Given the description of an element on the screen output the (x, y) to click on. 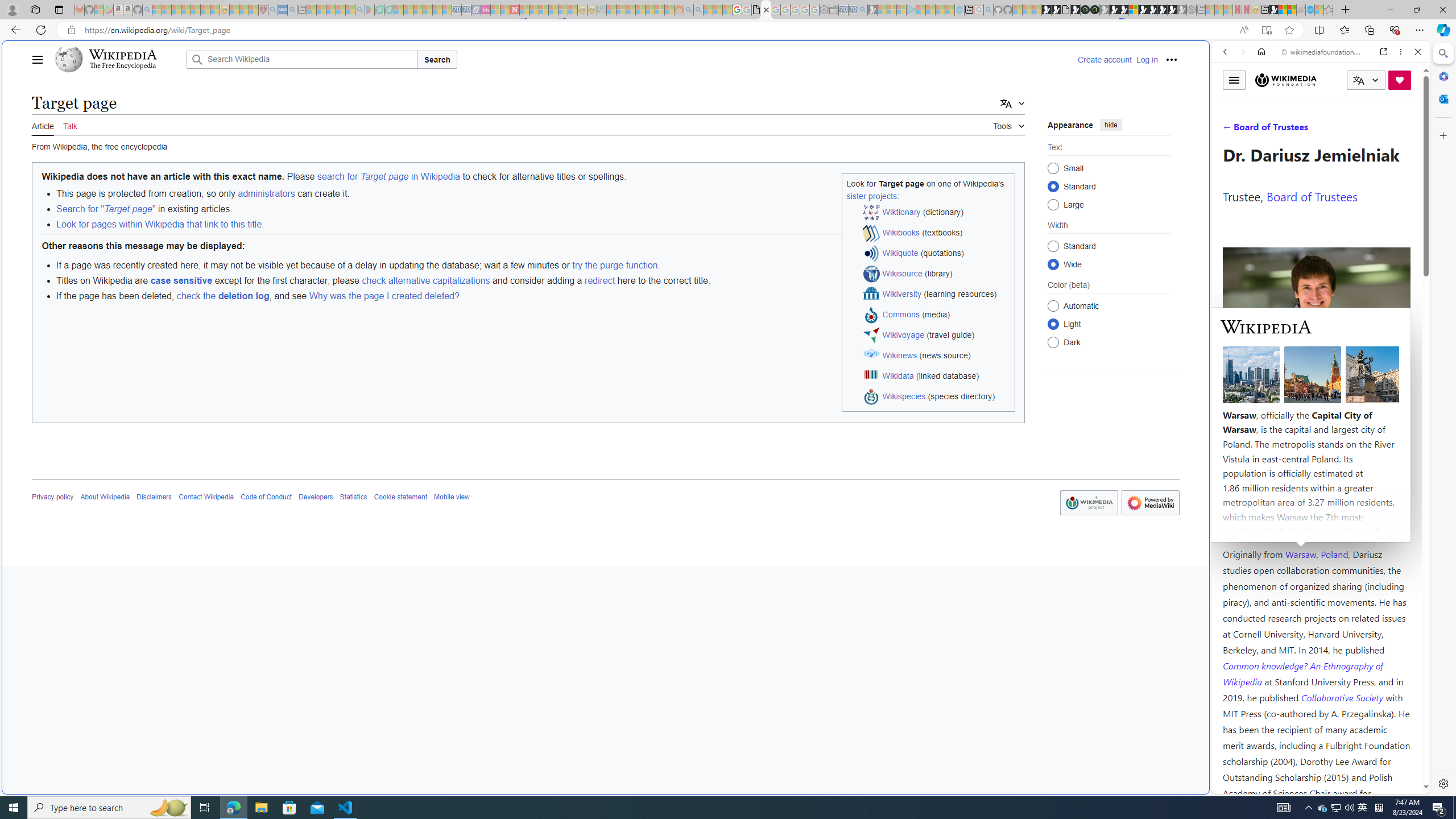
Personal tools (1171, 59)
Play Cave FRVR in your browser | Games from Microsoft Start (1114, 9)
Navy Quest (1300, 9)
Future Focus Report 2024 (1094, 9)
Article (42, 124)
Bluey: Let's Play! - Apps on Google Play - Sleeping (369, 9)
